Given the description of an element on the screen output the (x, y) to click on. 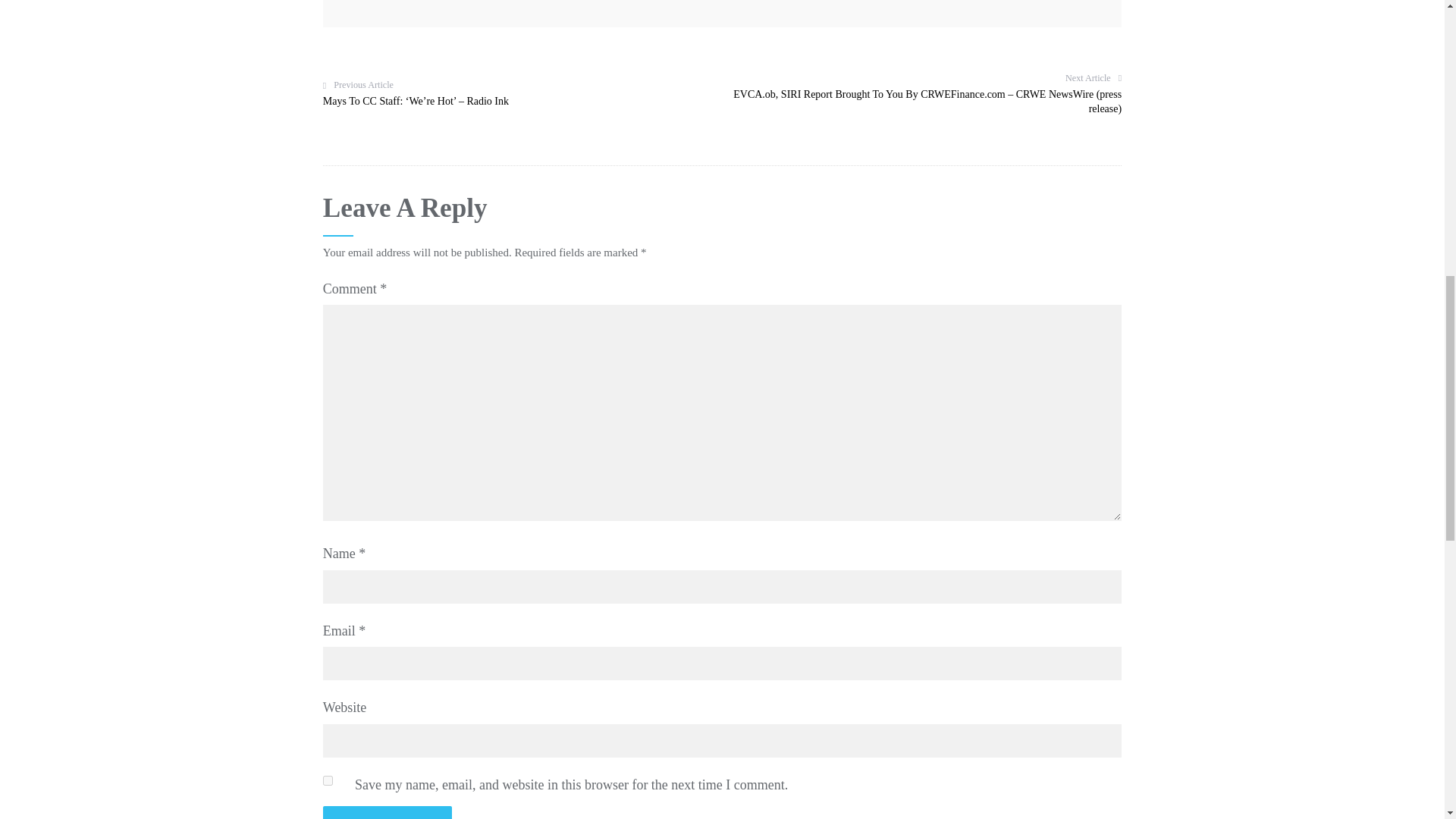
yes (328, 780)
Post Comment (387, 812)
